Given the description of an element on the screen output the (x, y) to click on. 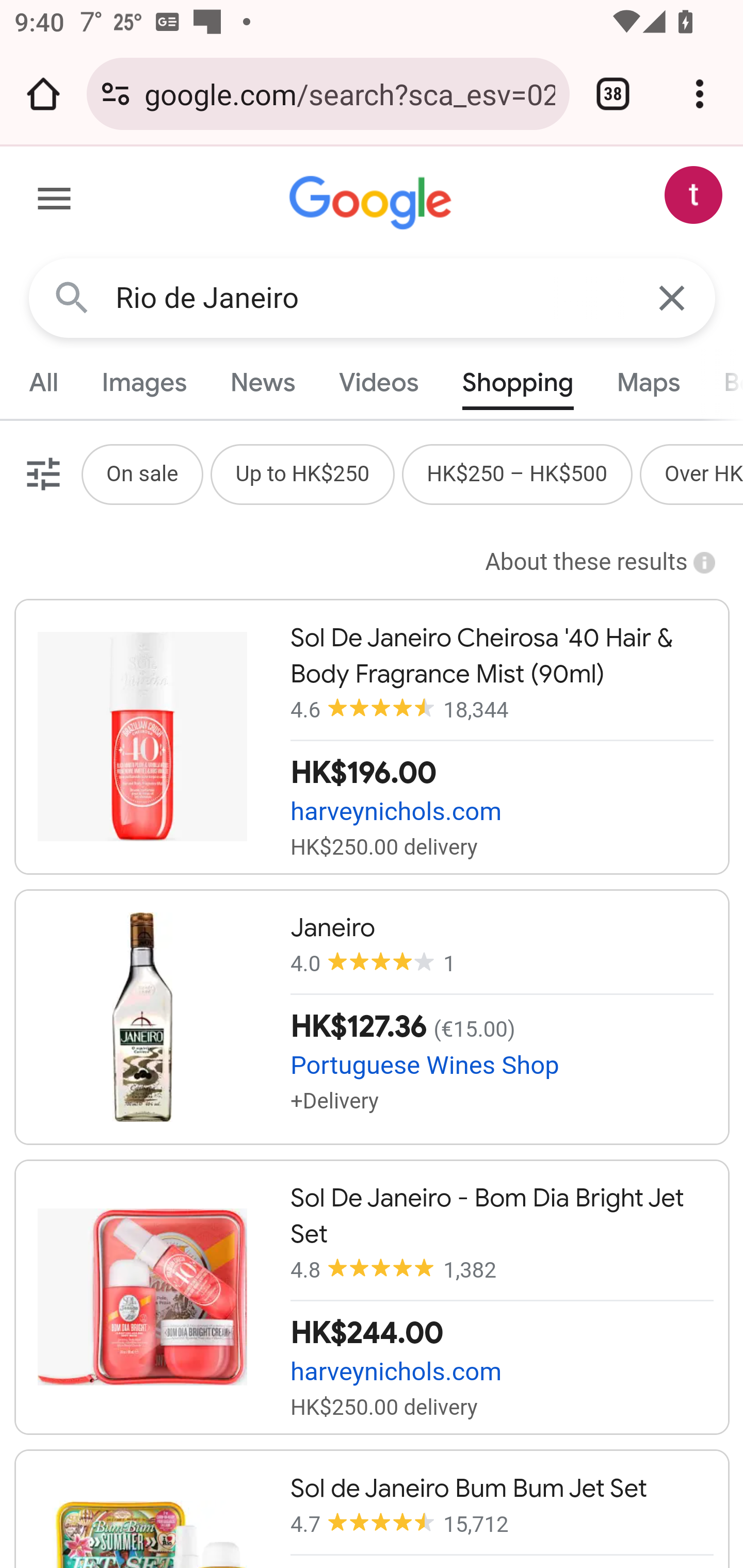
Open the home page (43, 93)
Connection is secure (115, 93)
Switch or close tabs (612, 93)
Customize and control Google Chrome (699, 93)
Main menu (54, 202)
Google (372, 203)
Google Search (71, 296)
Clear Search (672, 296)
Rio de Janeiro (372, 297)
All (43, 382)
Images (144, 382)
News (262, 382)
Videos (378, 382)
Maps (647, 382)
Filters.0 filters applied. (41, 473)
On sale (141, 473)
Up to HK$250 (302, 473)
HK$250 – HK$500 (517, 473)
Over HK$500 (703, 473)
Janeiro (371, 1016)
Sol De Janeiro - Bom Dia Bright Jet Set (371, 1296)
Sol de Janeiro Bum Bum Jet Set (371, 1508)
